Given the description of an element on the screen output the (x, y) to click on. 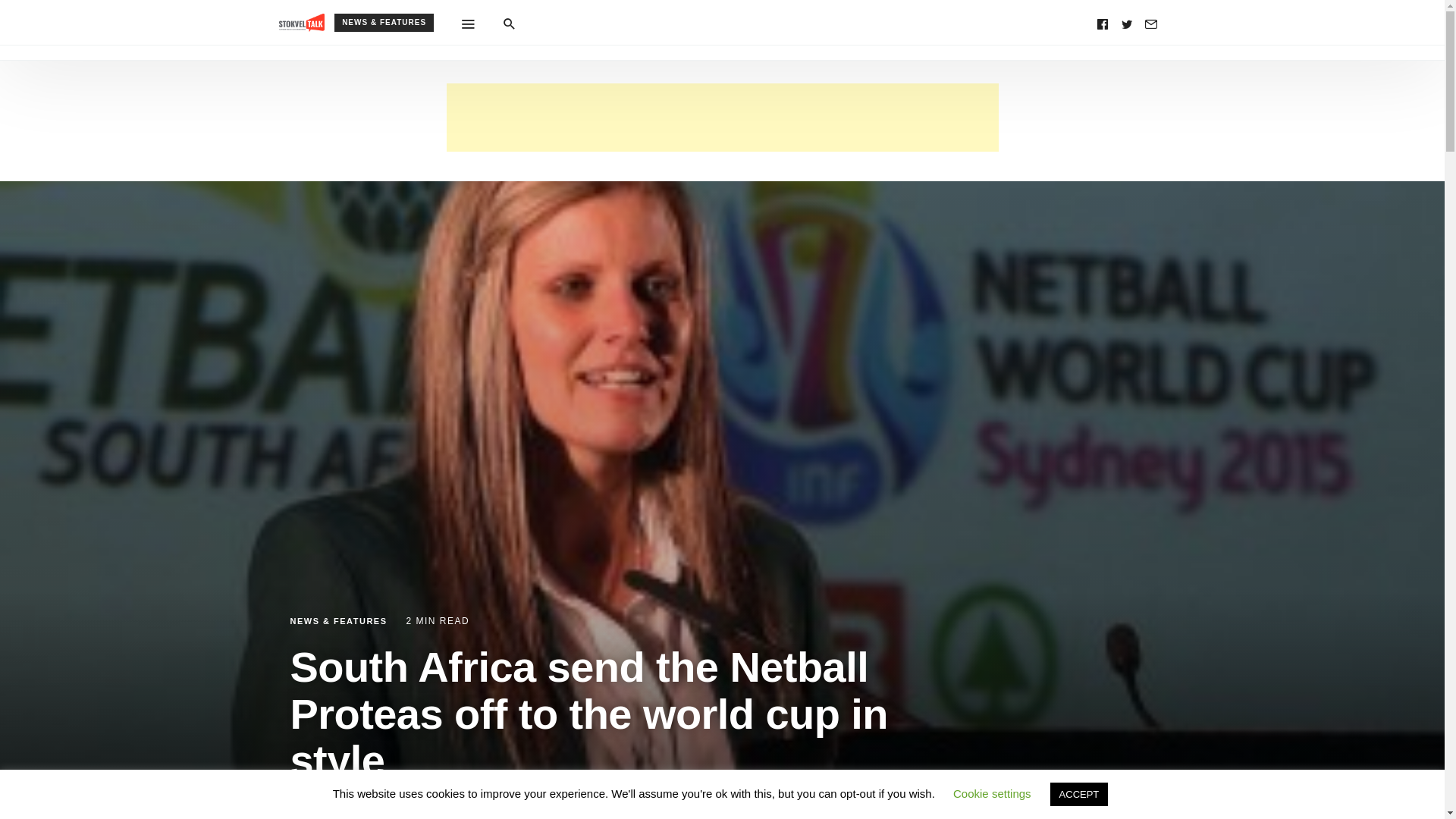
ERIC PHIRI (334, 801)
Twitter (1126, 22)
Email (1150, 22)
Facebook (1102, 22)
0 (387, 801)
Advertisement (721, 117)
